Given the description of an element on the screen output the (x, y) to click on. 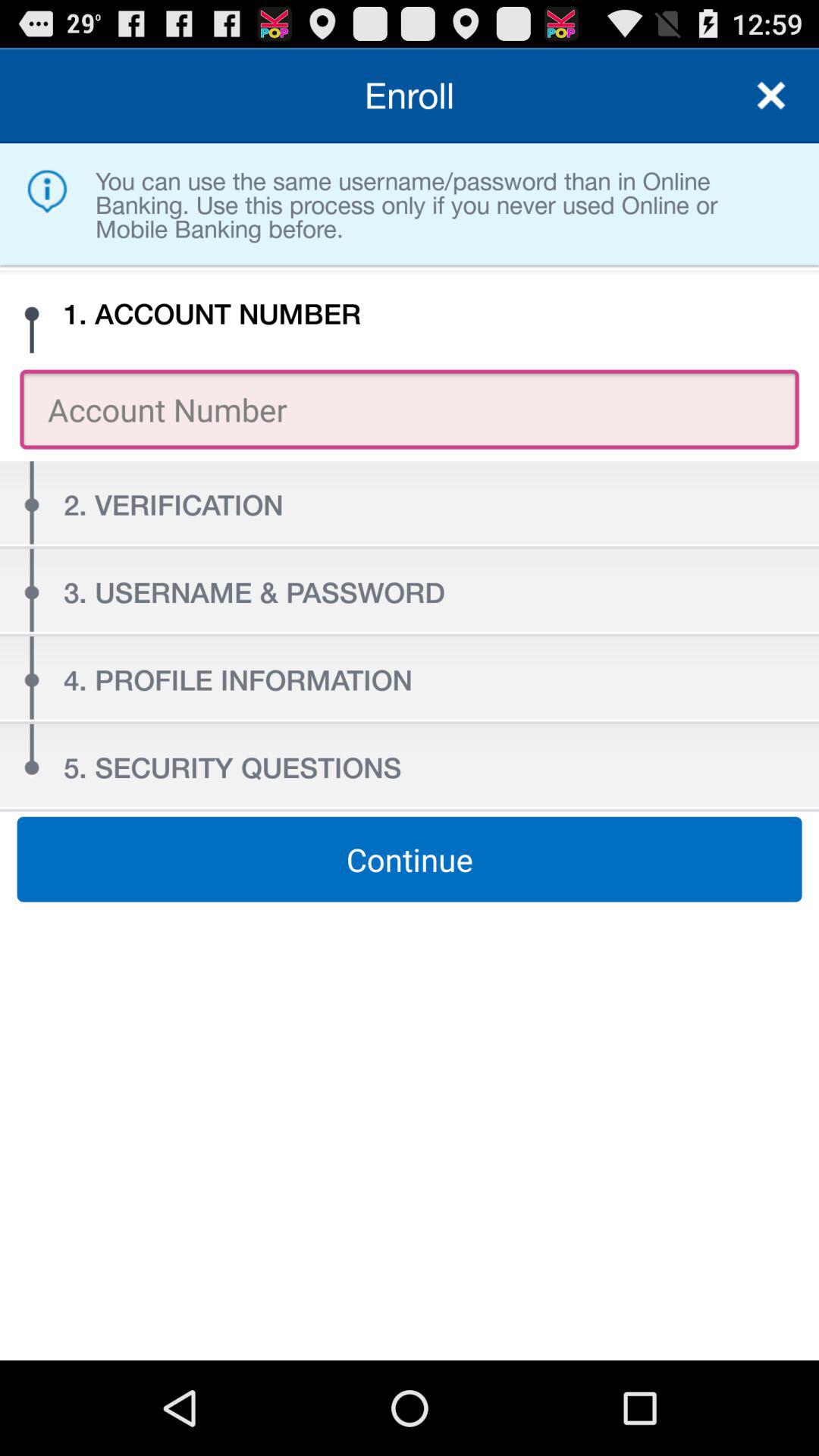
turn on the continue icon (409, 859)
